Given the description of an element on the screen output the (x, y) to click on. 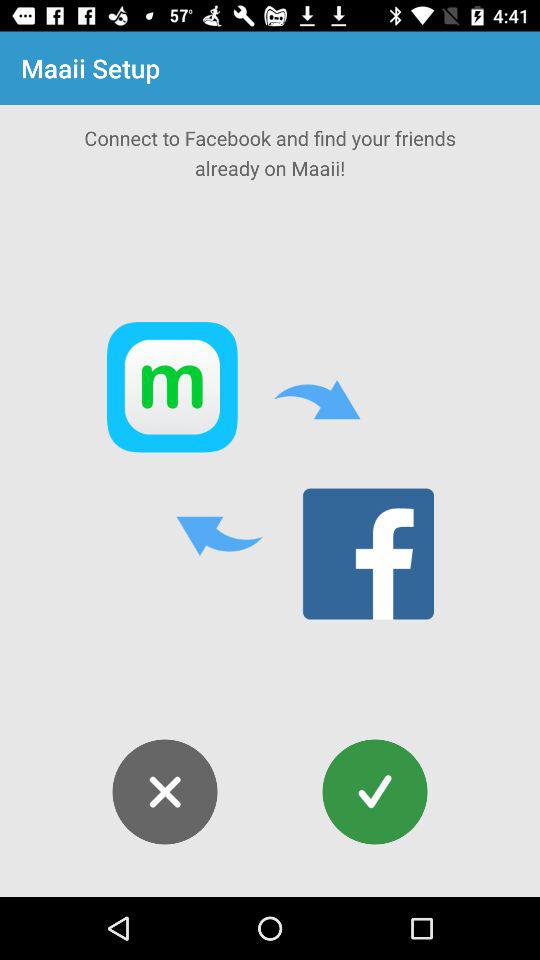
choose accept (374, 791)
